Given the description of an element on the screen output the (x, y) to click on. 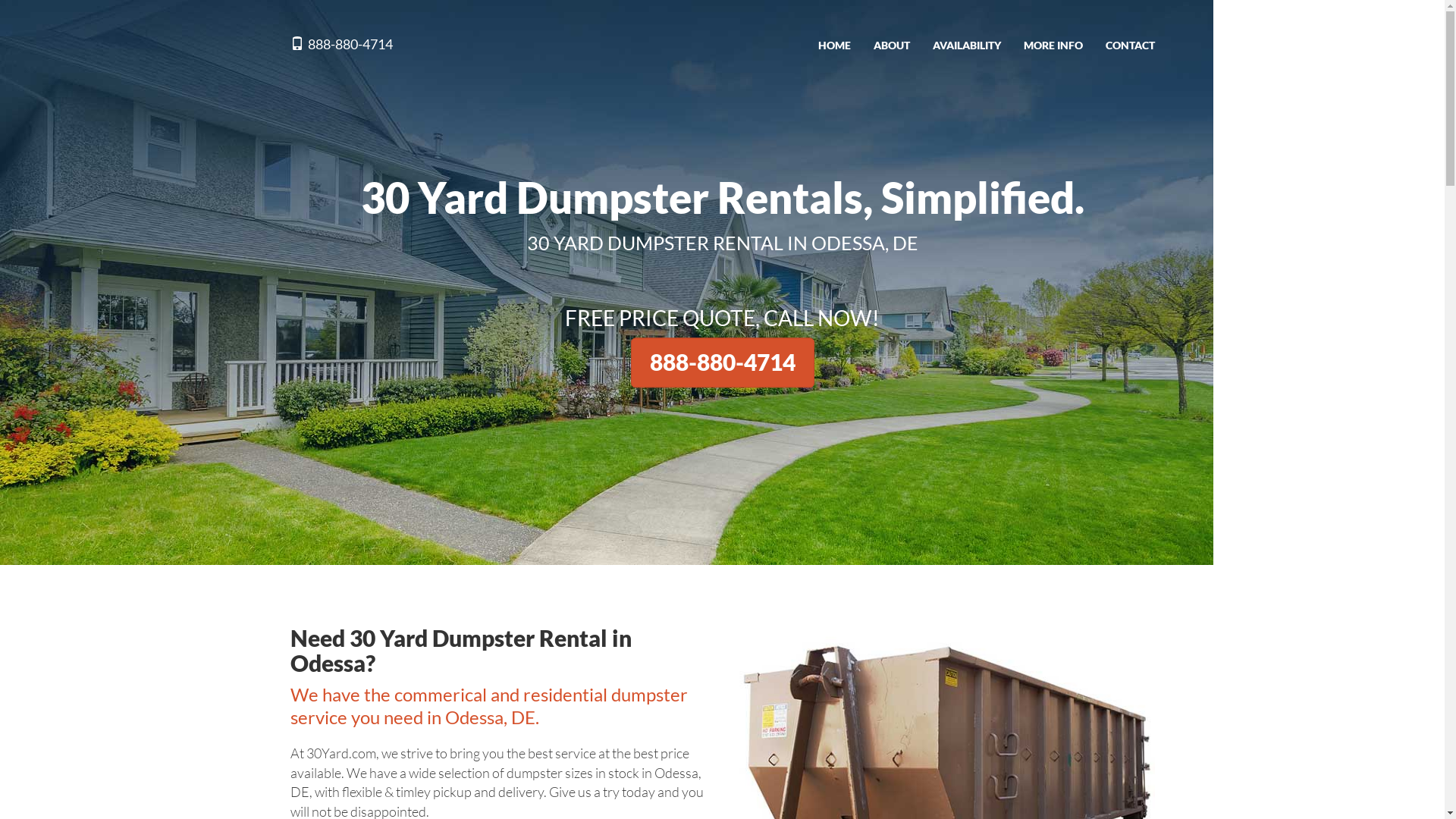
888-880-4714 Element type: text (722, 362)
ABOUT Element type: text (890, 45)
HOME Element type: text (834, 45)
AVAILABILITY Element type: text (965, 45)
888-880-4714 Element type: text (341, 41)
CONTACT Element type: text (1129, 45)
MORE INFO Element type: text (1052, 45)
